Given the description of an element on the screen output the (x, y) to click on. 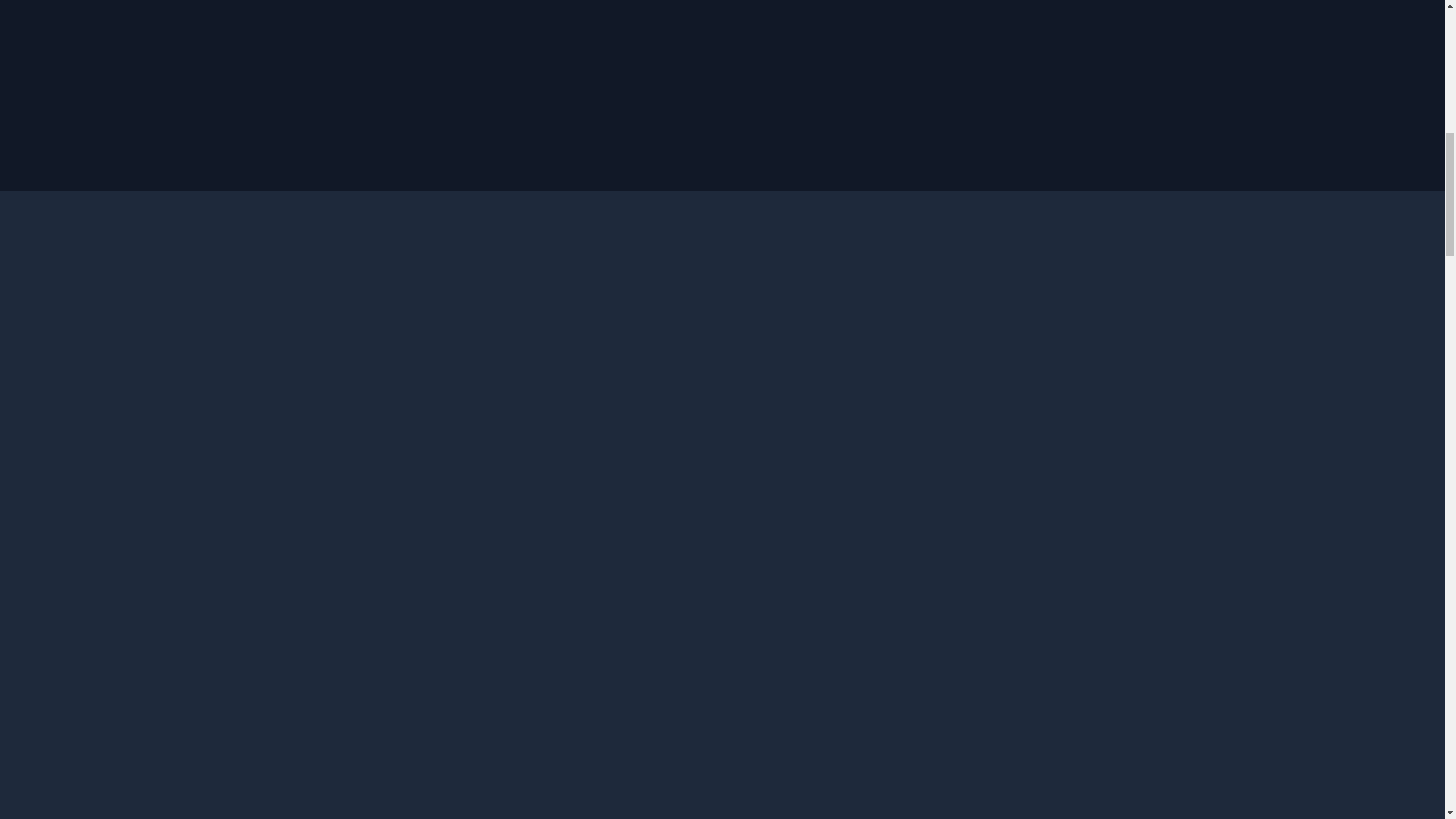
Build Apps (758, 610)
